Given the description of an element on the screen output the (x, y) to click on. 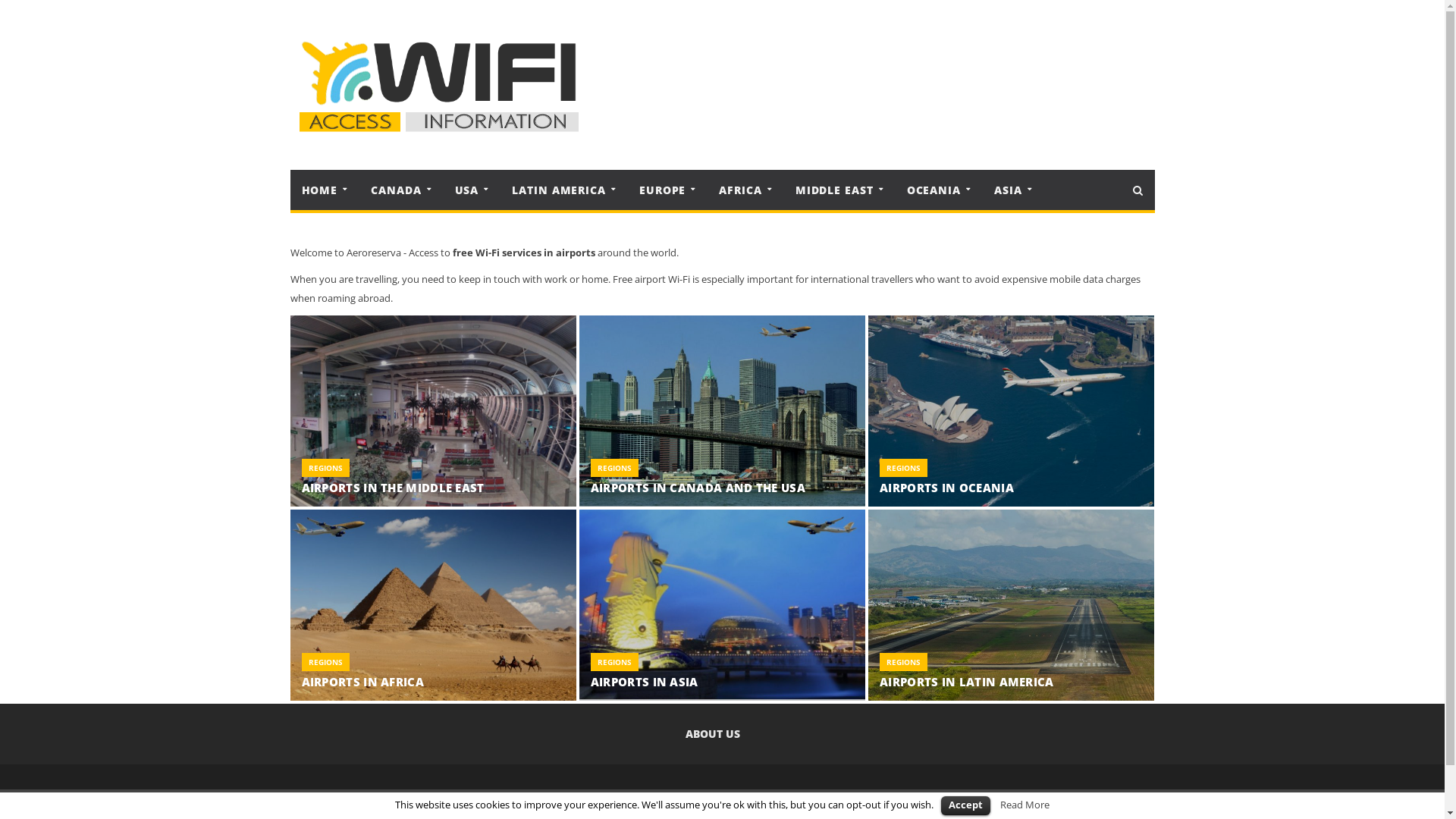
REGIONS Element type: text (614, 467)
Read More Element type: text (1024, 804)
AIRPORTS IN AFRICA Element type: text (362, 681)
REGIONS Element type: text (324, 467)
Accept Element type: text (965, 805)
HOME Element type: text (322, 189)
ABOUT US Element type: text (712, 733)
AIRPORTS IN THE MIDDLE EAST Element type: text (392, 487)
REGIONS Element type: text (324, 661)
Advertisement Element type: hover (861, 84)
AIRPORTS IN LATIN AMERICA Element type: text (966, 681)
CANADA Element type: text (399, 189)
AIRPORTS IN CANADA AND THE USA Element type: text (697, 487)
REGIONS Element type: text (614, 661)
AIRPORTS IN OCEANIA Element type: text (946, 487)
ASIA Element type: text (1011, 189)
MIDDLE EAST Element type: text (838, 189)
AFRICA Element type: text (743, 189)
EUROPE Element type: text (665, 189)
LATIN AMERICA Element type: text (562, 189)
AIRPORTS IN ASIA Element type: text (644, 681)
REGIONS Element type: text (903, 661)
USA Element type: text (470, 189)
REGIONS Element type: text (903, 467)
OCEANIA Element type: text (937, 189)
